Given the description of an element on the screen output the (x, y) to click on. 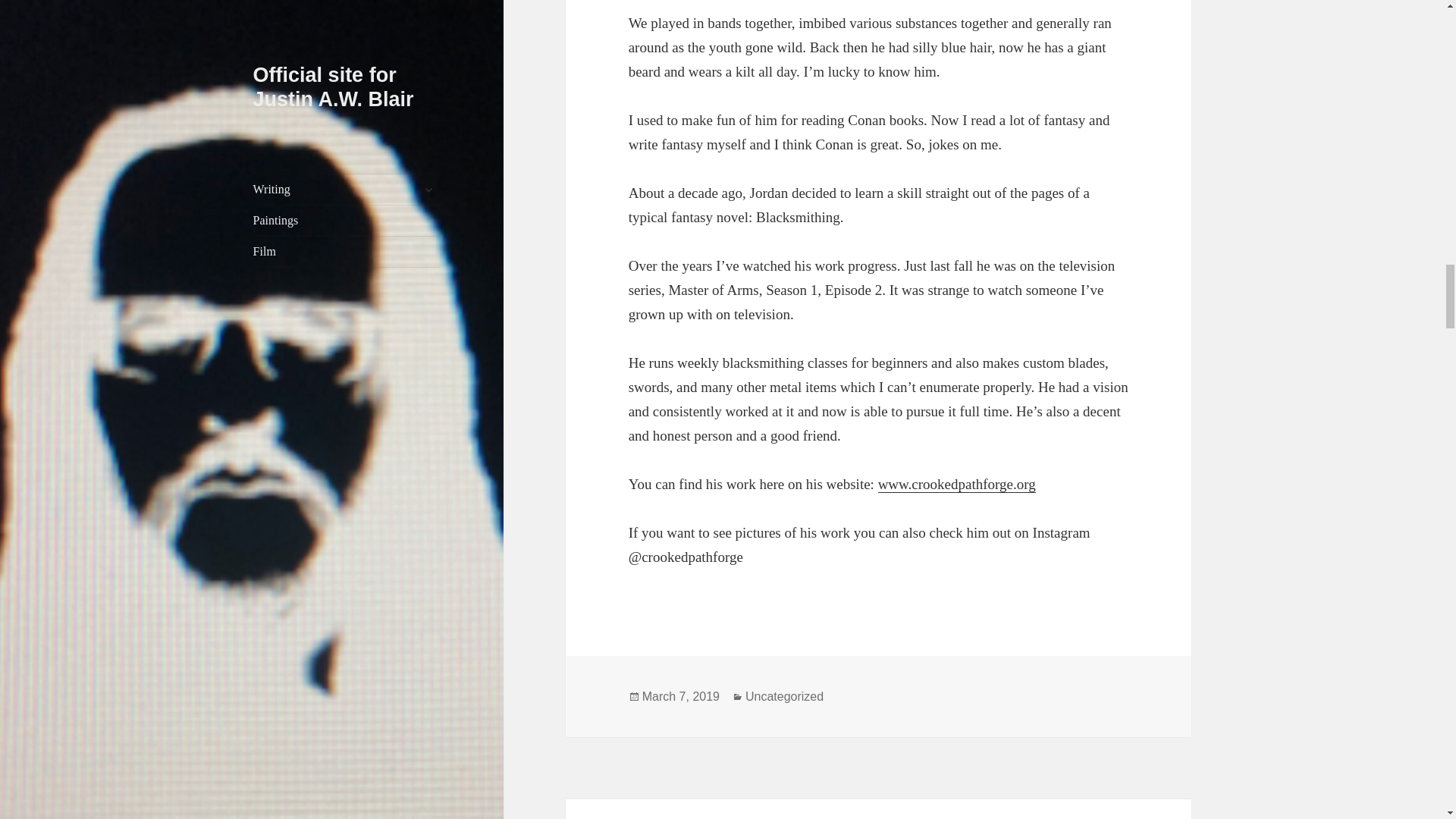
March 7, 2019 (680, 696)
Uncategorized (784, 696)
www.crookedpathforge.org (956, 484)
